Given the description of an element on the screen output the (x, y) to click on. 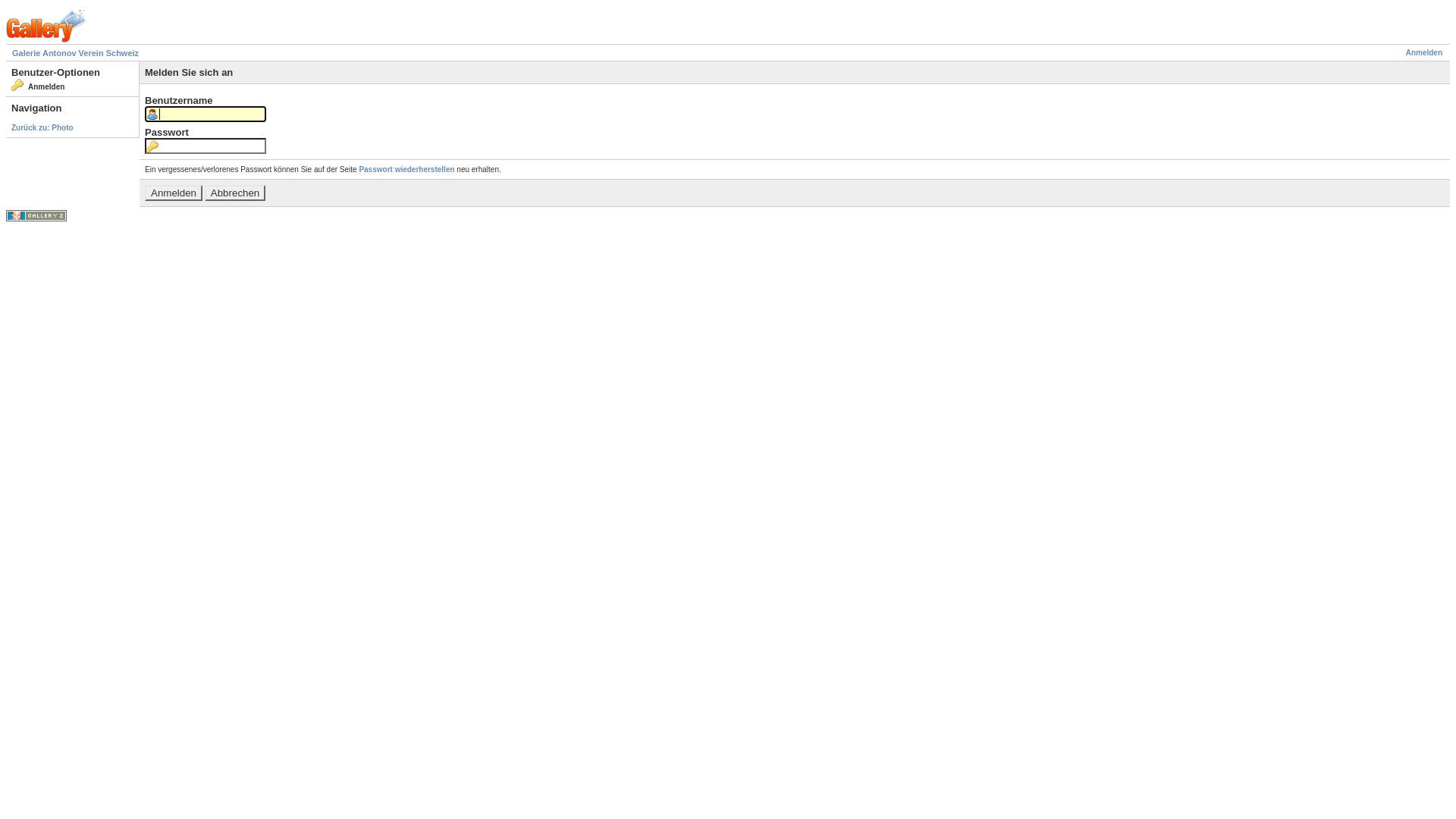
Powered by Gallery v2.2 Element type: hover (36, 215)
Anmelden Element type: text (173, 192)
Passwort wiederherstellen Element type: text (406, 169)
Abbrechen Element type: text (234, 192)
Anmelden Element type: text (1423, 52)
Galerie Antonov Verein Schweiz Element type: text (75, 52)
